Given the description of an element on the screen output the (x, y) to click on. 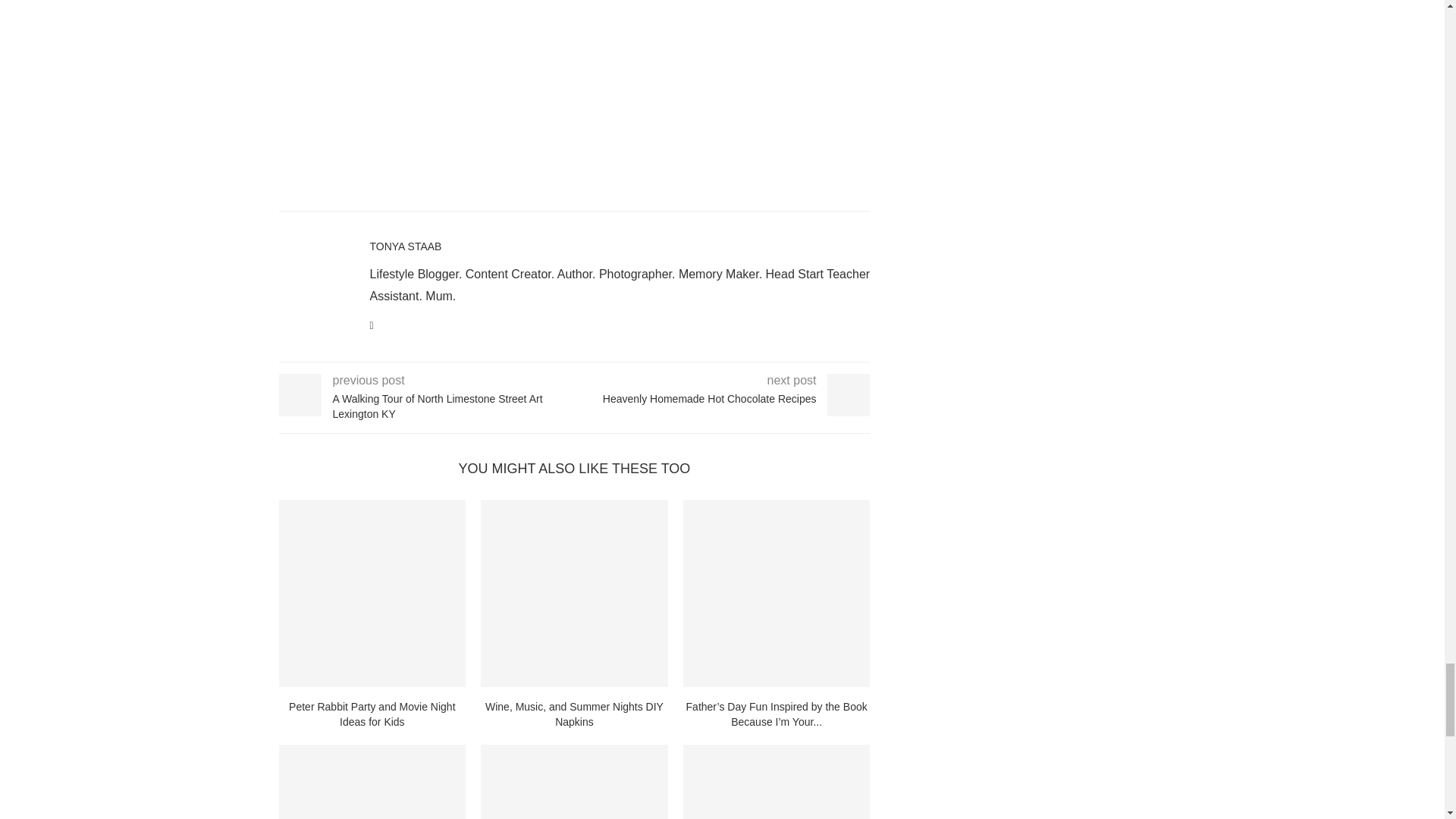
Wine, Music, and Summer Nights DIY Napkins (574, 593)
Peter Rabbit Party and Movie Night Ideas for Kids (372, 593)
Author Tonya Staab (405, 246)
